Given the description of an element on the screen output the (x, y) to click on. 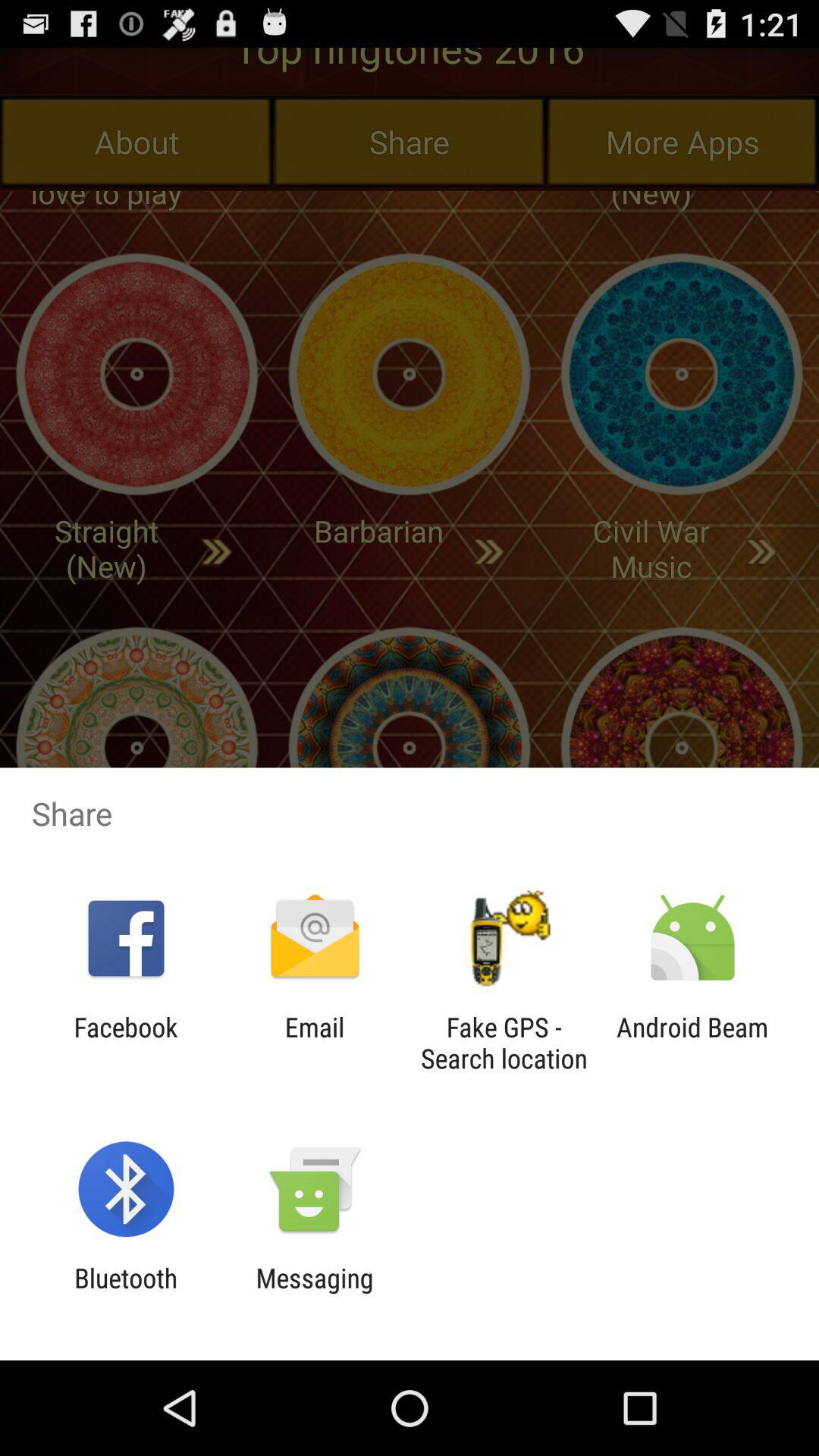
press the app next to the android beam icon (503, 1042)
